Given the description of an element on the screen output the (x, y) to click on. 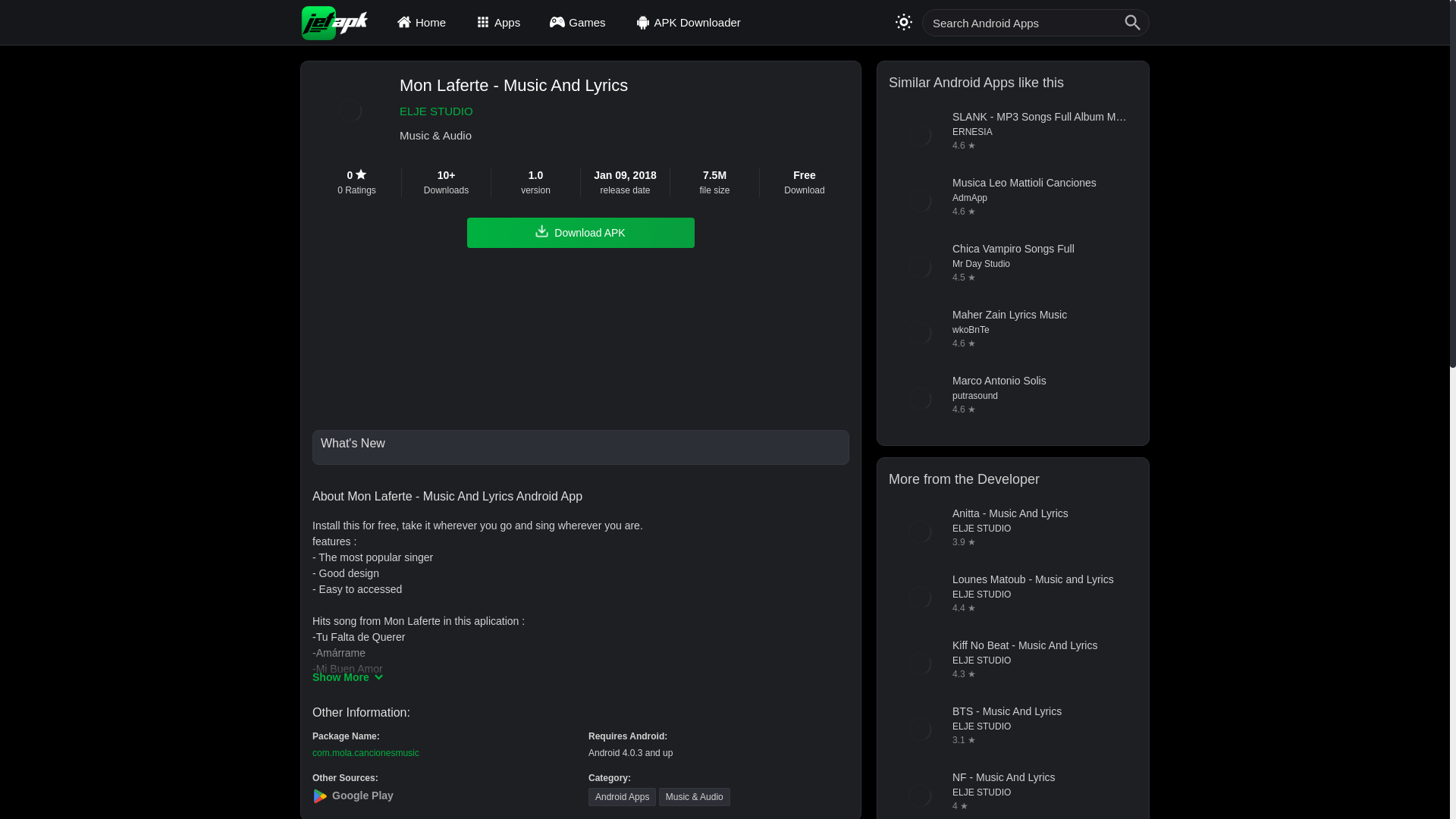
ELJE STUDIO (512, 111)
1.0 (535, 175)
BTS - Music And Lyrics 1.0 Android APK (1012, 729)
Kiff No Beat - Music And Lyrics 1.0 Android APK (1012, 663)
APK Downloader (689, 22)
Google Play (443, 795)
Games (579, 22)
Anitta - Music And Lyrics 1.0 Android APK (1012, 531)
Marco Antonio Solis 1.0 Android APK (1012, 398)
Home (422, 22)
